Given the description of an element on the screen output the (x, y) to click on. 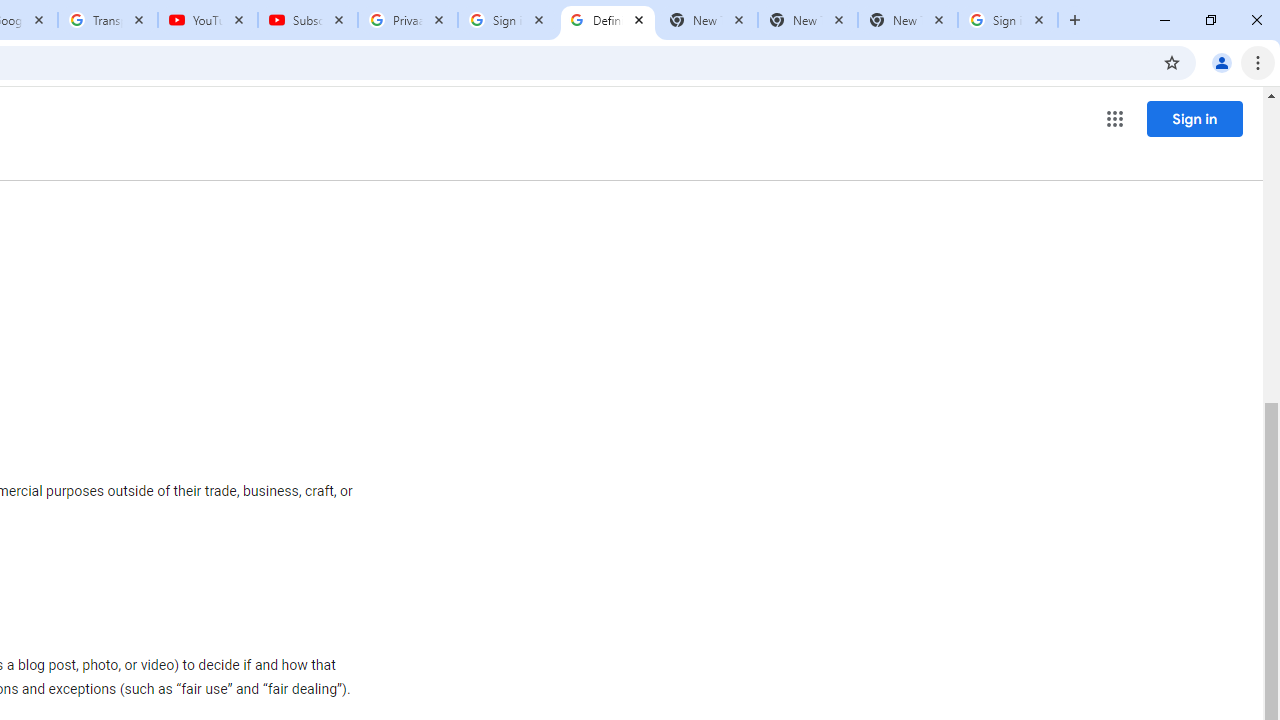
Sign in - Google Accounts (508, 20)
